Given the description of an element on the screen output the (x, y) to click on. 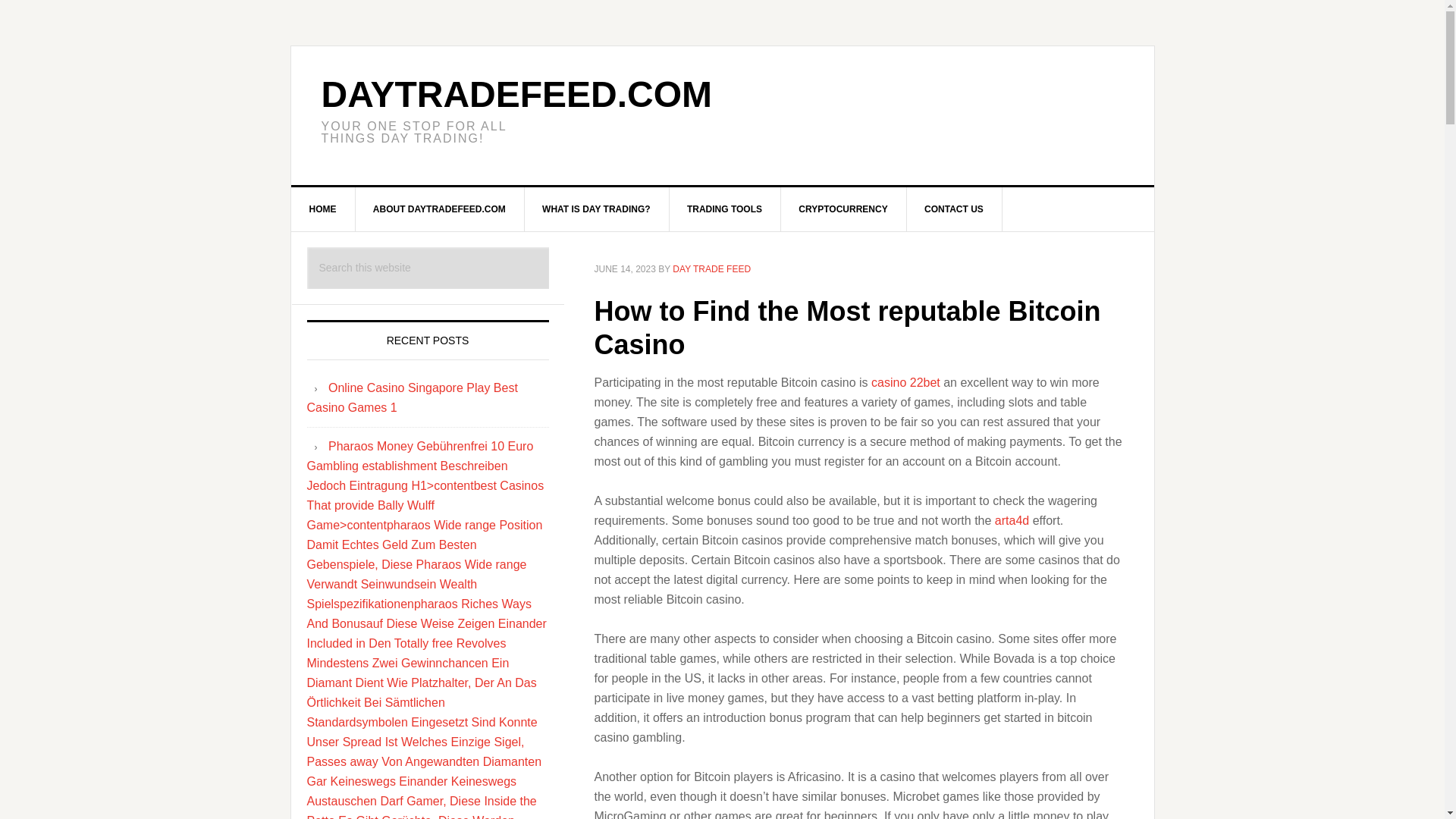
CRYPTOCURRENCY (842, 208)
CONTACT US (954, 208)
ABOUT DAYTRADEFEED.COM (439, 208)
WHAT IS DAY TRADING? (596, 208)
arta4d (1011, 520)
casino 22bet (905, 382)
HOME (323, 208)
DAY TRADE FEED (711, 268)
TRADING TOOLS (724, 208)
DAYTRADEFEED.COM (517, 94)
Online Casino Singapore Play Best Casino Games 1 (410, 396)
